Given the description of an element on the screen output the (x, y) to click on. 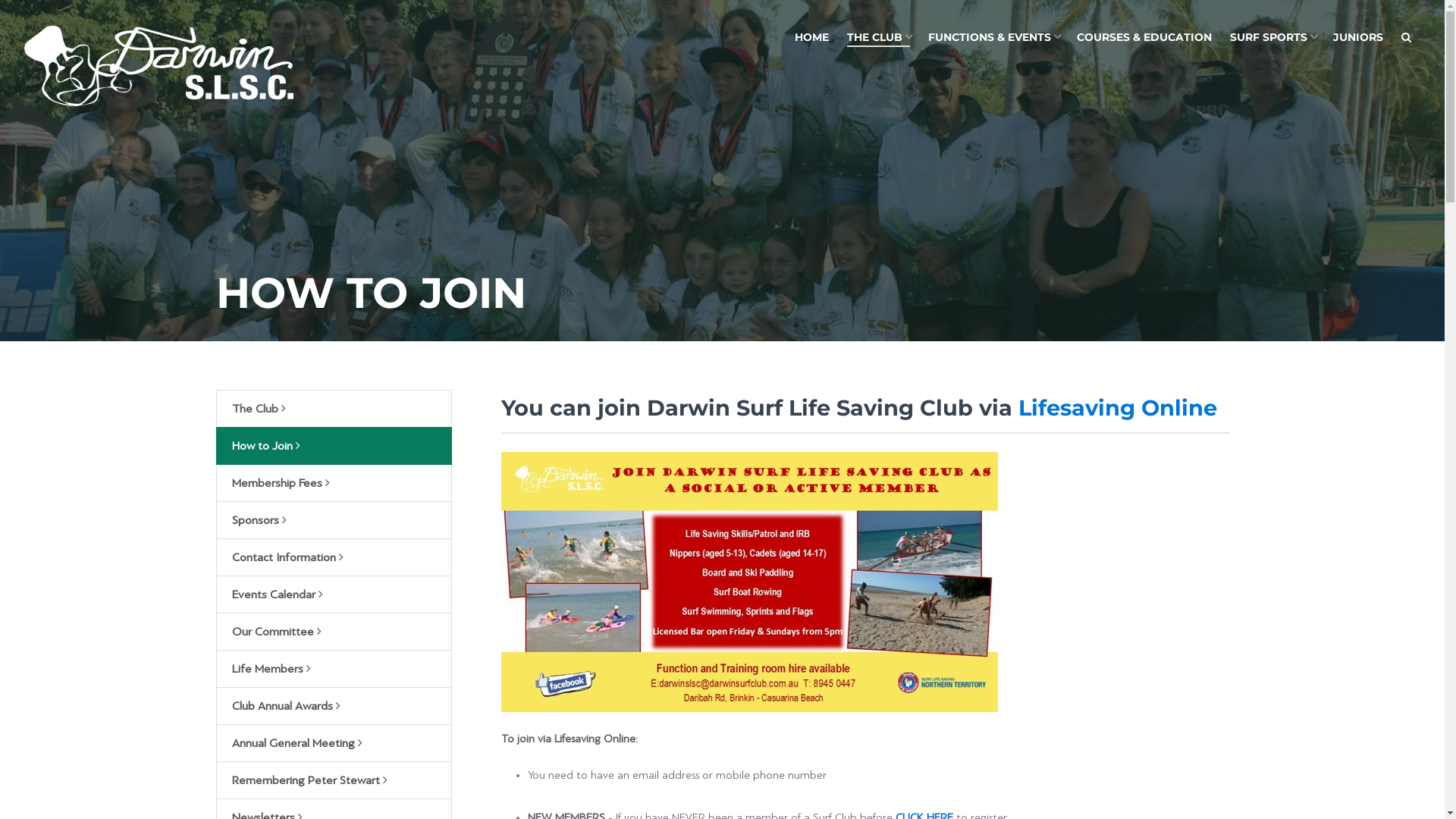
Contact Information  Element type: text (333, 557)
Annual General Meeting  Element type: text (333, 743)
HOME Element type: text (811, 37)
Membership Fees  Element type: text (333, 483)
Events Calendar  Element type: text (333, 594)
Life Members  Element type: text (333, 668)
Remembering Peter Stewart  Element type: text (333, 780)
SURF SPORTS Element type: text (1272, 37)
COURSES & EDUCATION Element type: text (1143, 37)
Our Committee  Element type: text (333, 631)
Search Element type: hover (1406, 37)
The Club  Element type: text (333, 408)
Sponsors  Element type: text (333, 520)
Lifesaving Online Element type: text (1117, 407)
JUNIORS Element type: text (1358, 37)
THE CLUB Element type: text (878, 38)
FUNCTIONS & EVENTS Element type: text (993, 37)
Club Annual Awards  Element type: text (333, 705)
How to Join  Element type: text (333, 445)
